Given the description of an element on the screen output the (x, y) to click on. 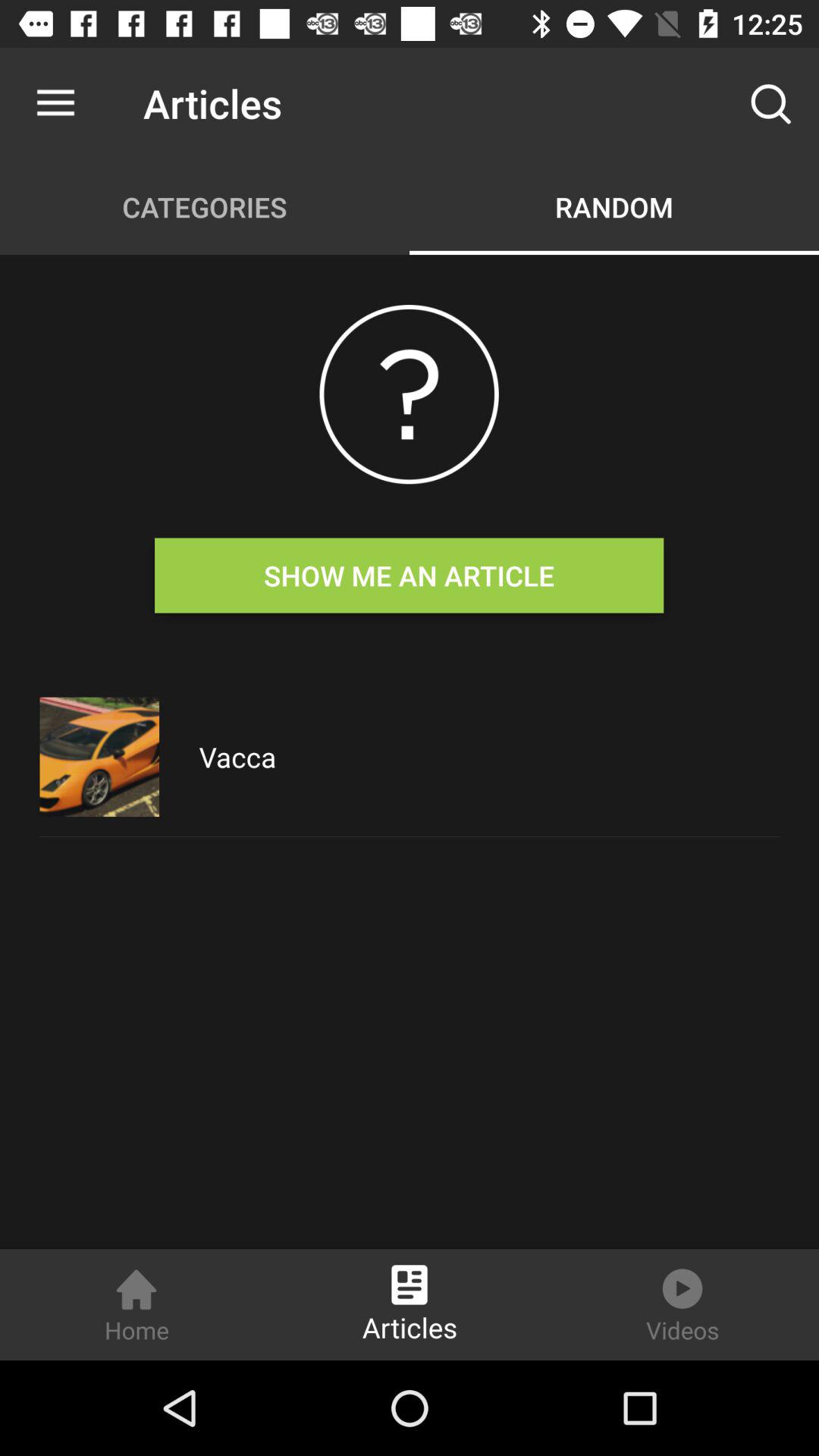
press item next to the articles icon (771, 103)
